Given the description of an element on the screen output the (x, y) to click on. 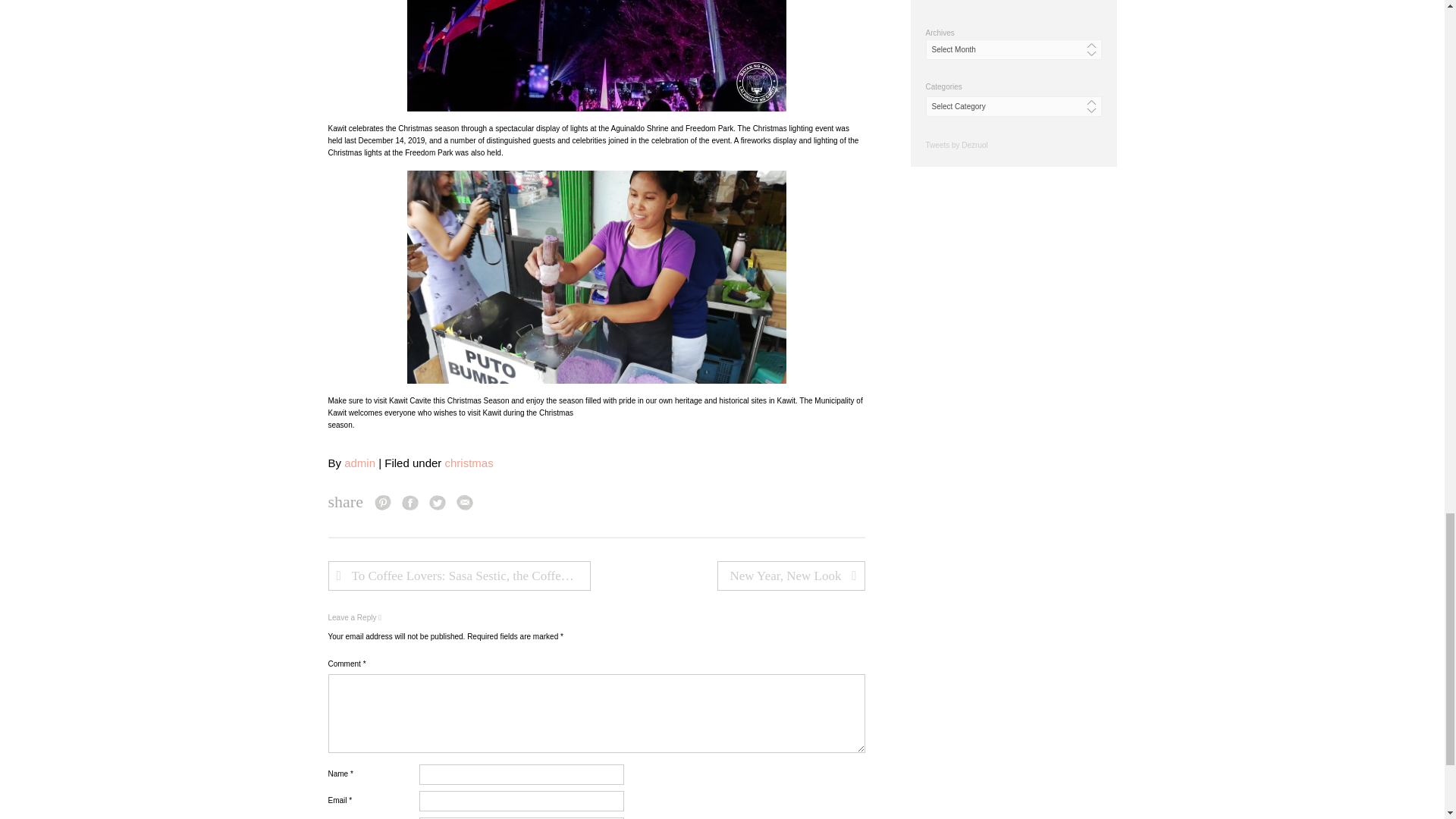
Tweets by Dezruol (955, 144)
admin (359, 462)
christmas (468, 462)
Share by Email (465, 501)
New Year, New Look (790, 575)
